Given the description of an element on the screen output the (x, y) to click on. 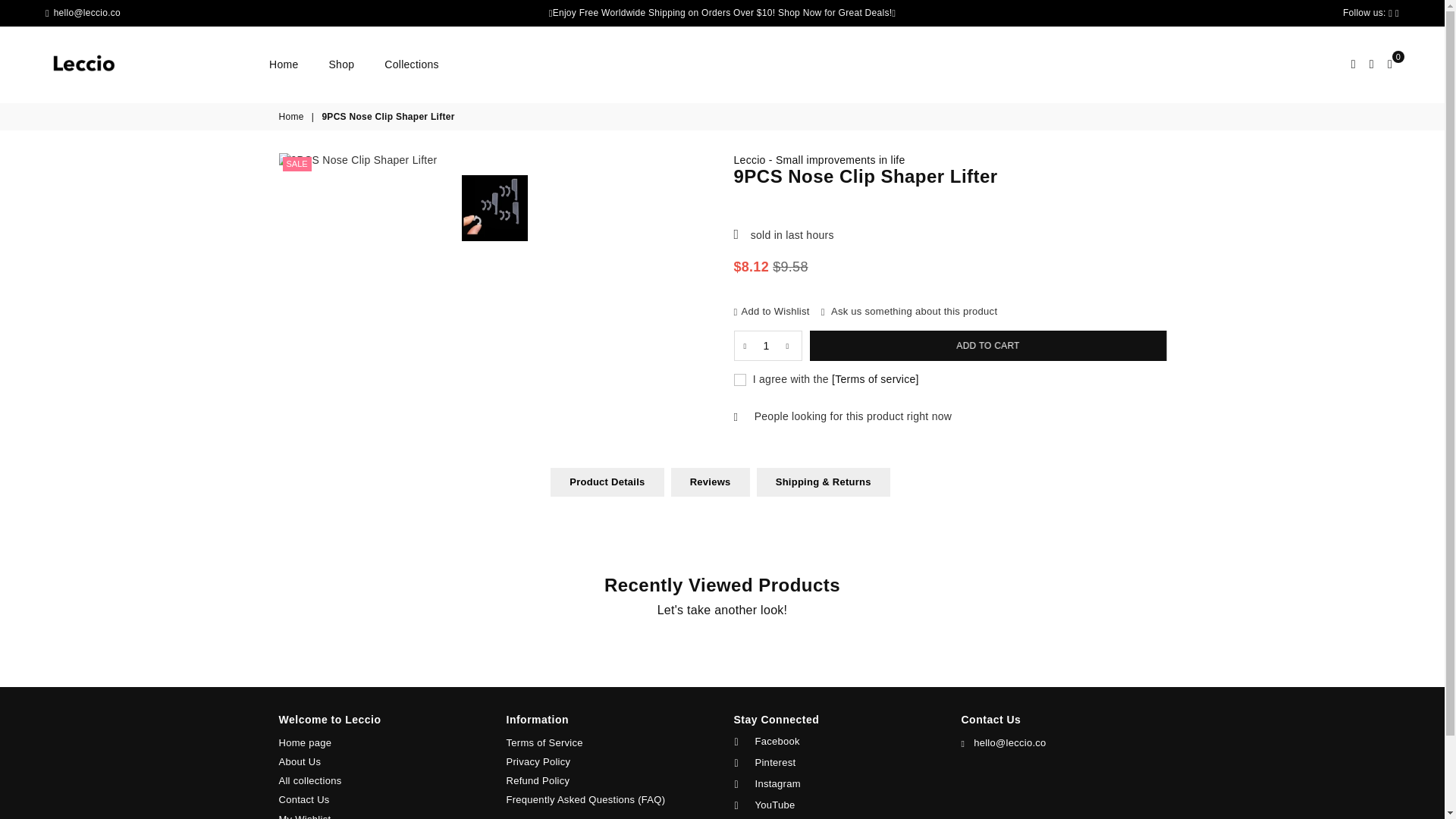
Add to Wishlist (771, 311)
Quantity (767, 345)
Home (282, 64)
Shop (341, 64)
Leccio - Small improvements in life on YouTube (831, 805)
Leccio - Small improvements in life (819, 159)
Ask us something about this product (909, 311)
Leccio - Small improvements in life on Pinterest (831, 762)
Back to the home page (292, 116)
Home (292, 116)
